Given the description of an element on the screen output the (x, y) to click on. 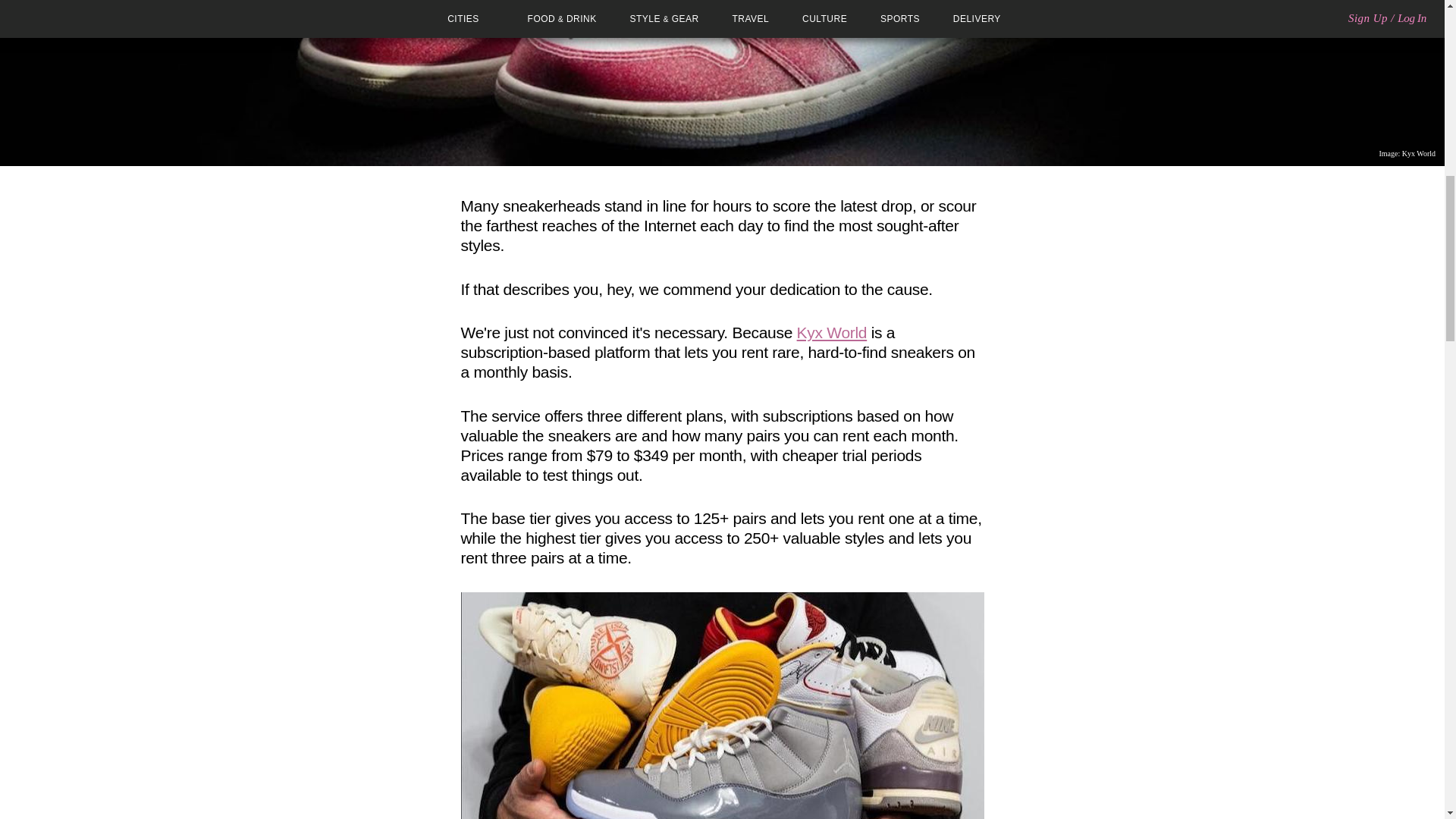
kyx world shoes (722, 705)
Kyx World (831, 332)
